Given the description of an element on the screen output the (x, y) to click on. 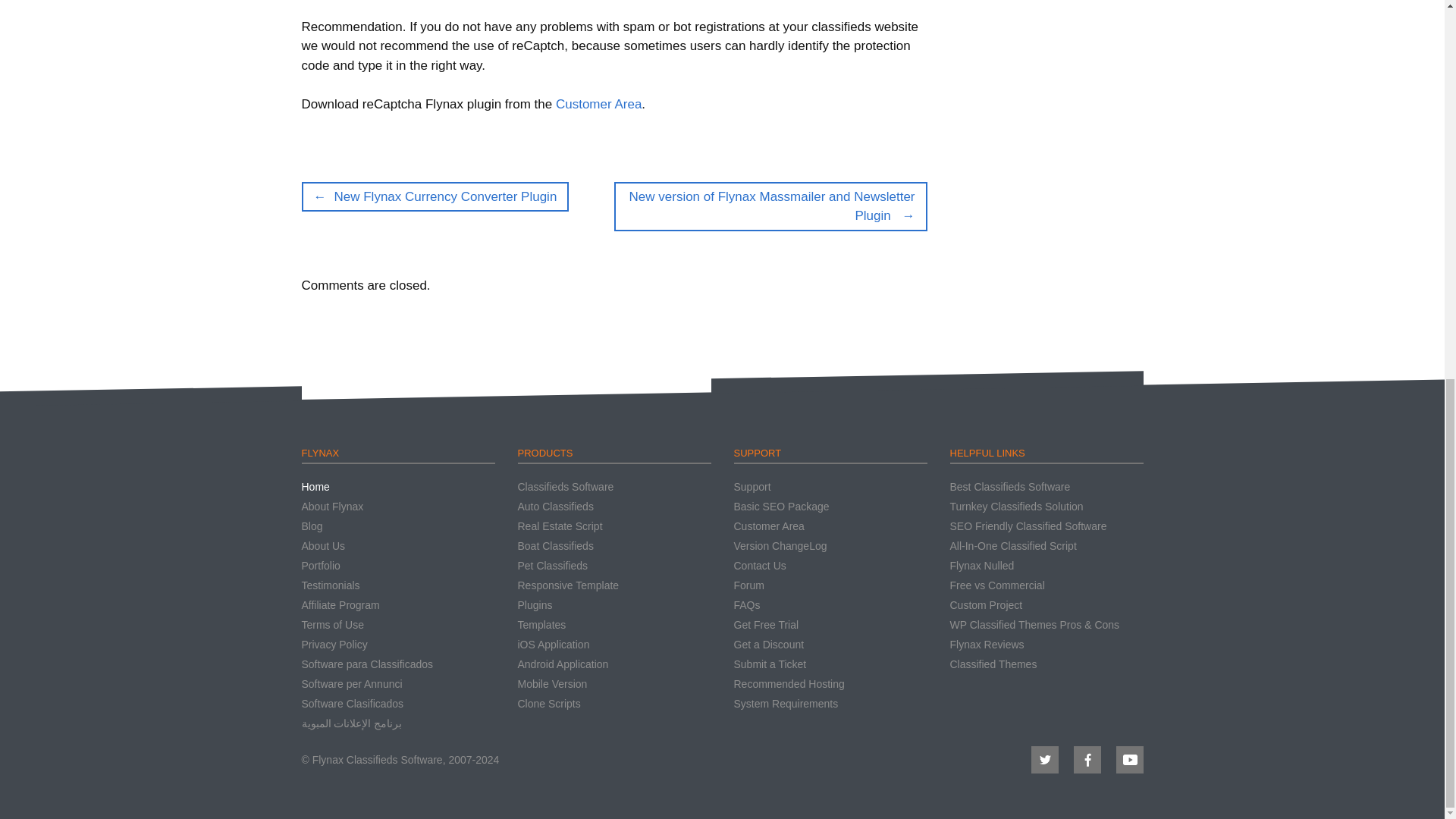
Blog (312, 526)
Testimonials (330, 585)
Portfolio (320, 565)
New Flynax Currency Converter Plugin (435, 196)
Home (315, 486)
Customer Area (599, 104)
New version of Flynax Massmailer and Newsletter Plugin (770, 205)
About Us (323, 545)
About Flynax (332, 506)
